Given the description of an element on the screen output the (x, y) to click on. 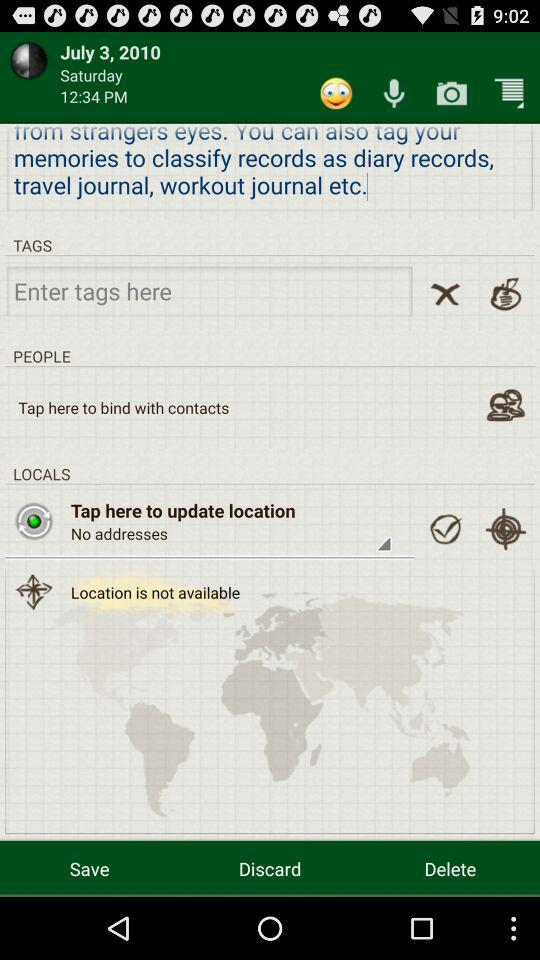
clear field (445, 293)
